Given the description of an element on the screen output the (x, y) to click on. 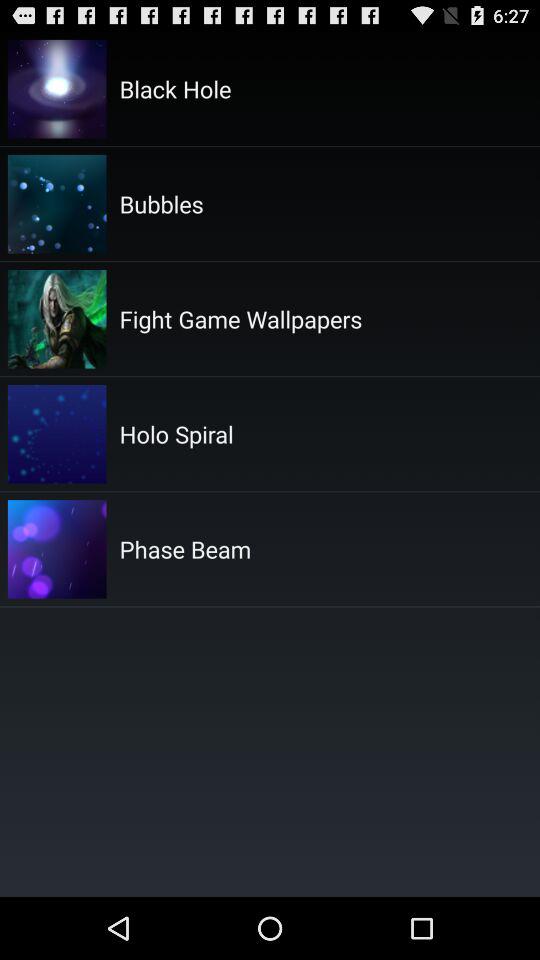
turn on item above phase beam item (176, 434)
